Given the description of an element on the screen output the (x, y) to click on. 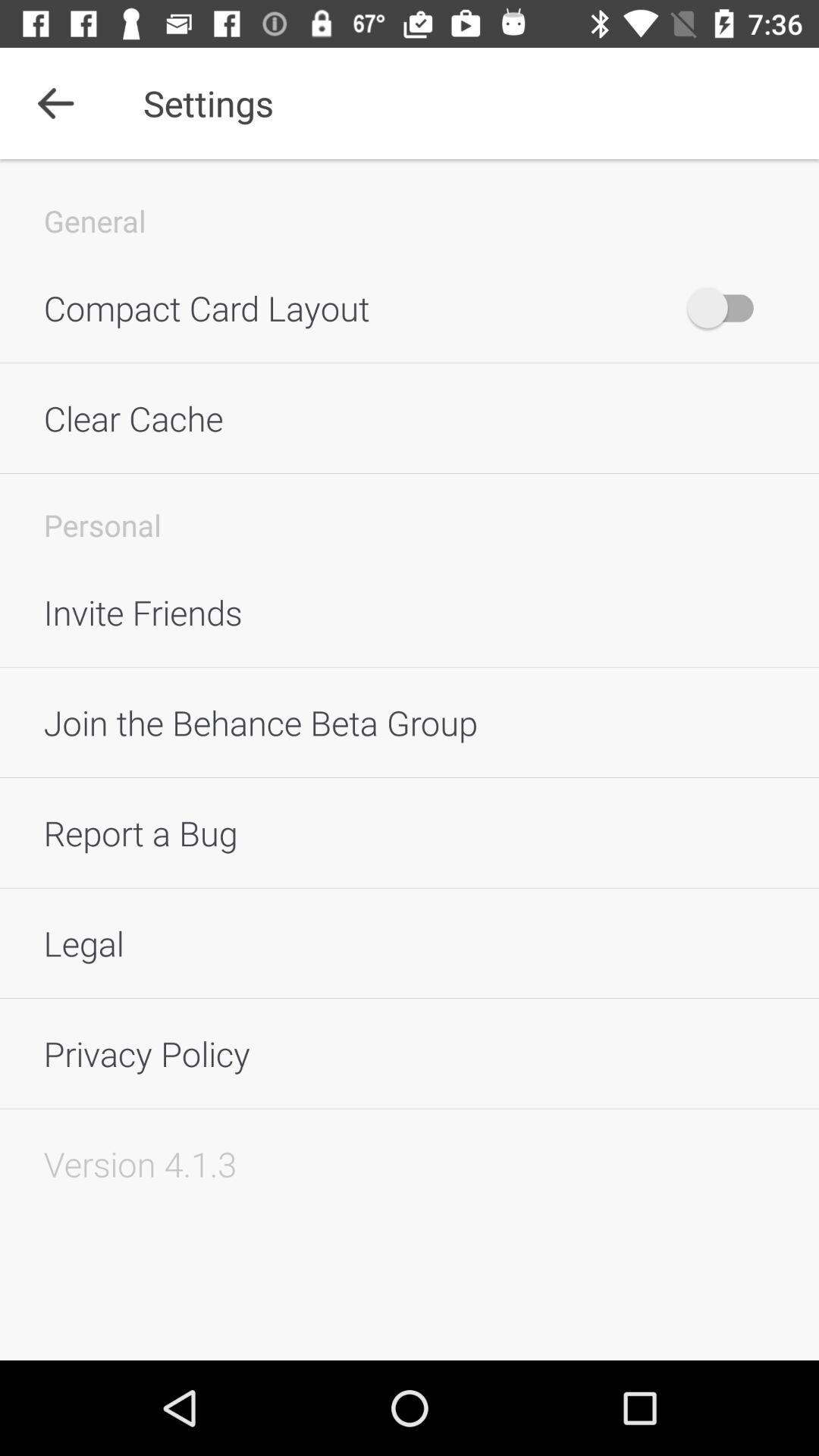
flip until report a bug icon (409, 832)
